Given the description of an element on the screen output the (x, y) to click on. 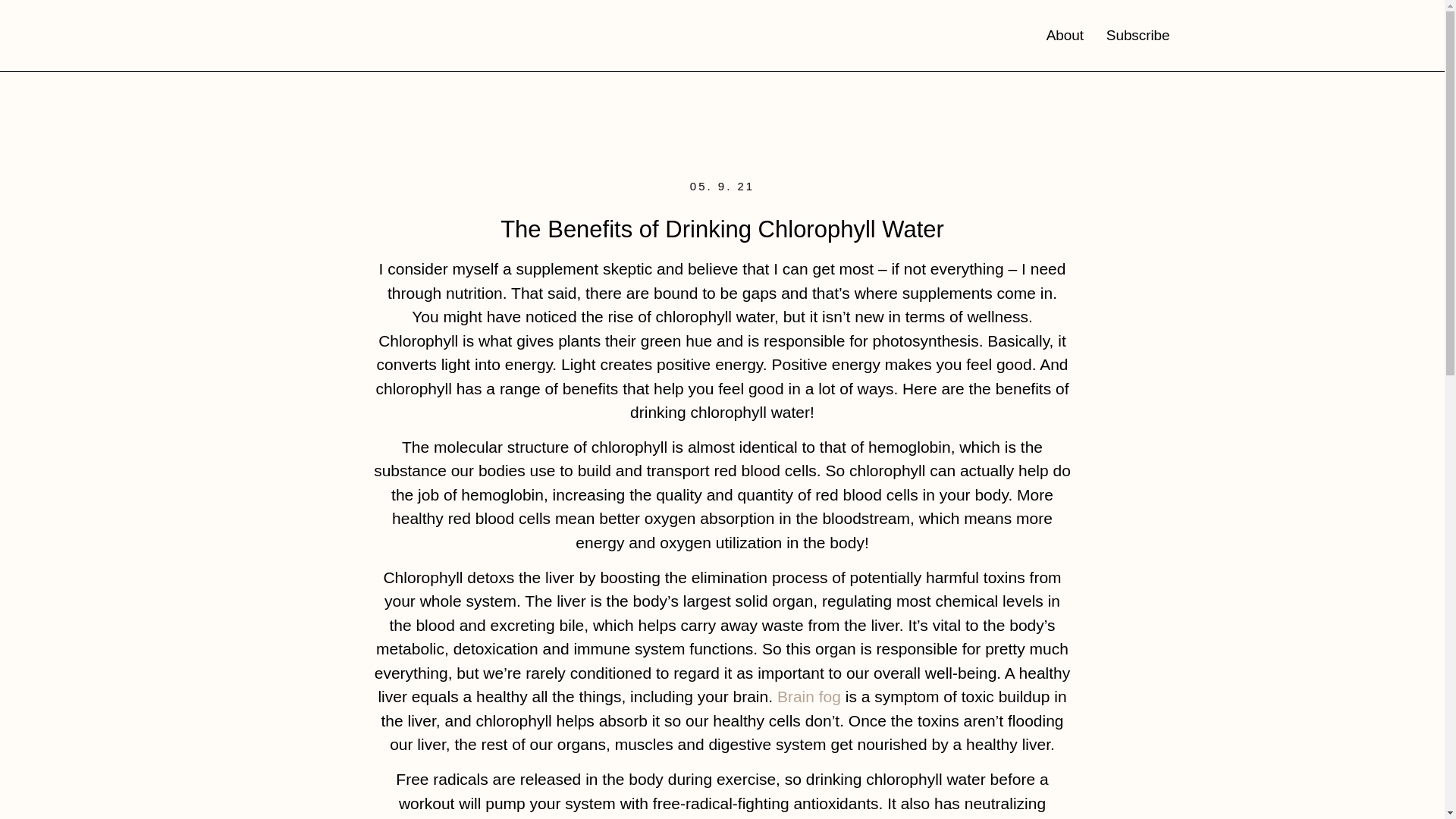
Subscribe (1138, 34)
About (1064, 34)
Brain fog (809, 696)
